Given the description of an element on the screen output the (x, y) to click on. 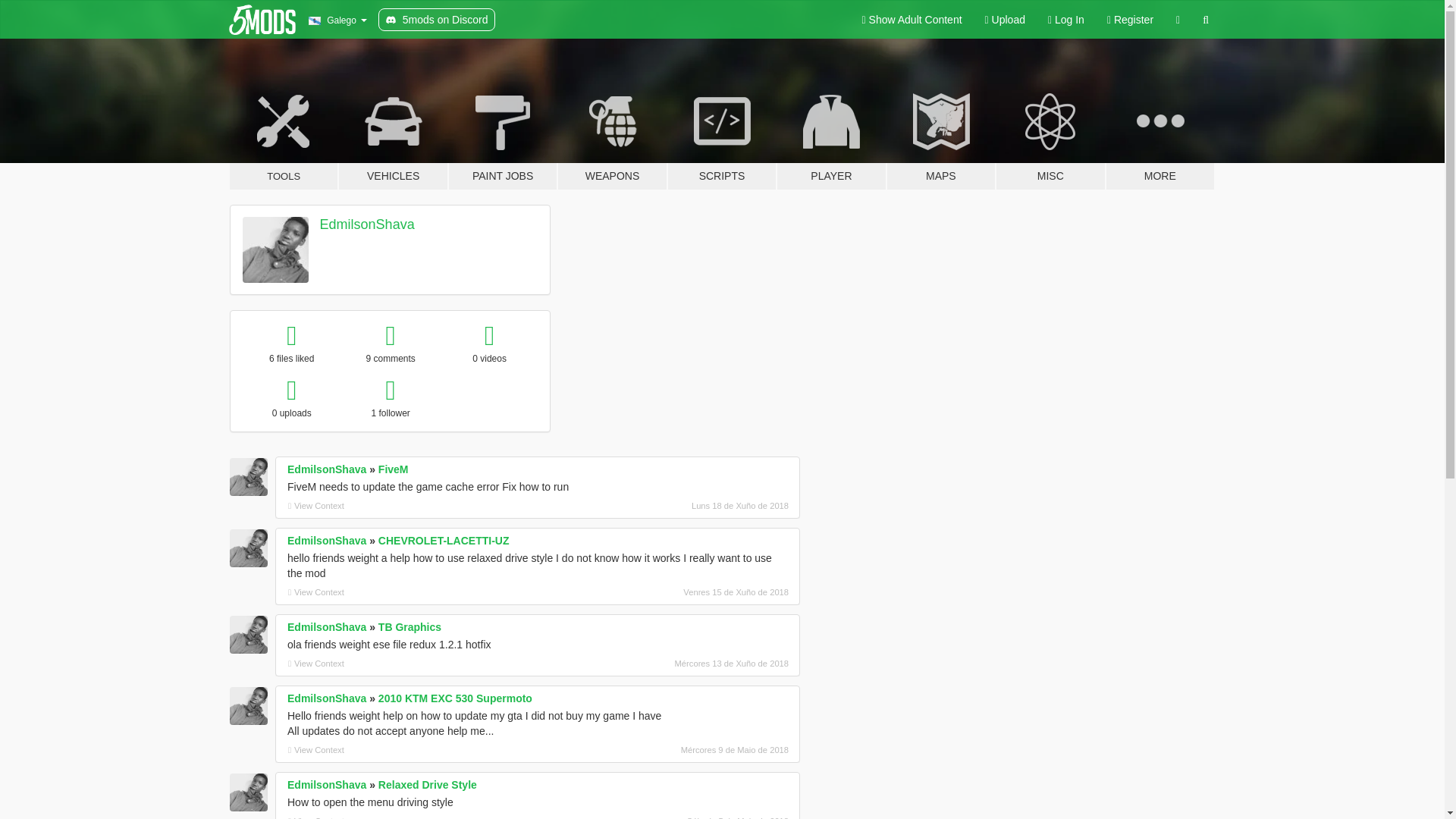
Light mode (912, 19)
  Galego (336, 19)
5mods on Discord (436, 19)
Upload (1005, 19)
Show Adult Content (912, 19)
Register (1130, 19)
Log In (1066, 19)
